Given the description of an element on the screen output the (x, y) to click on. 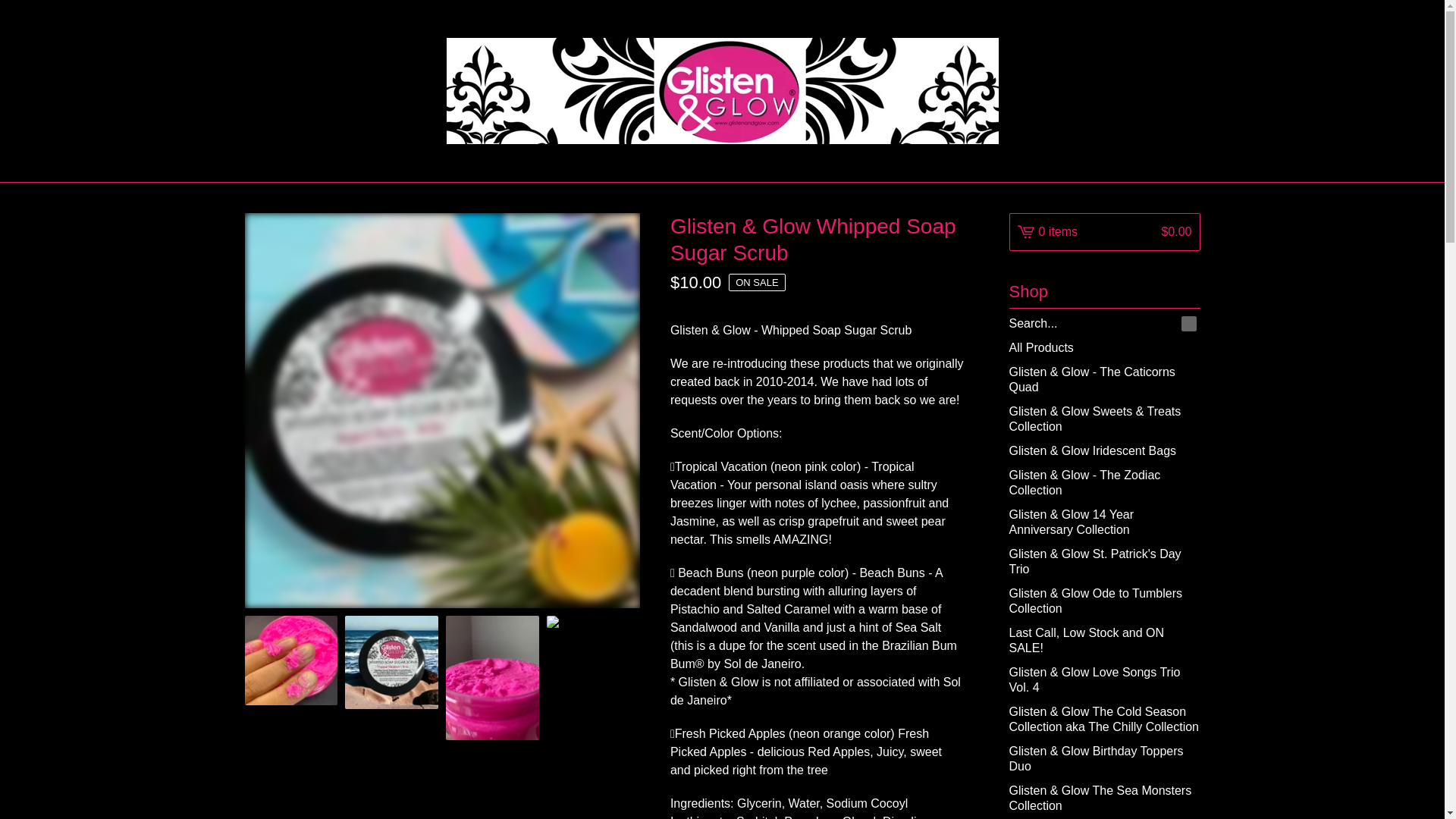
All Products (1104, 347)
View Cart (1104, 231)
Last Call, Low Stock and ON SALE! (1104, 640)
View Last Call, Low Stock and ON SALE!  (1104, 640)
